Given the description of an element on the screen output the (x, y) to click on. 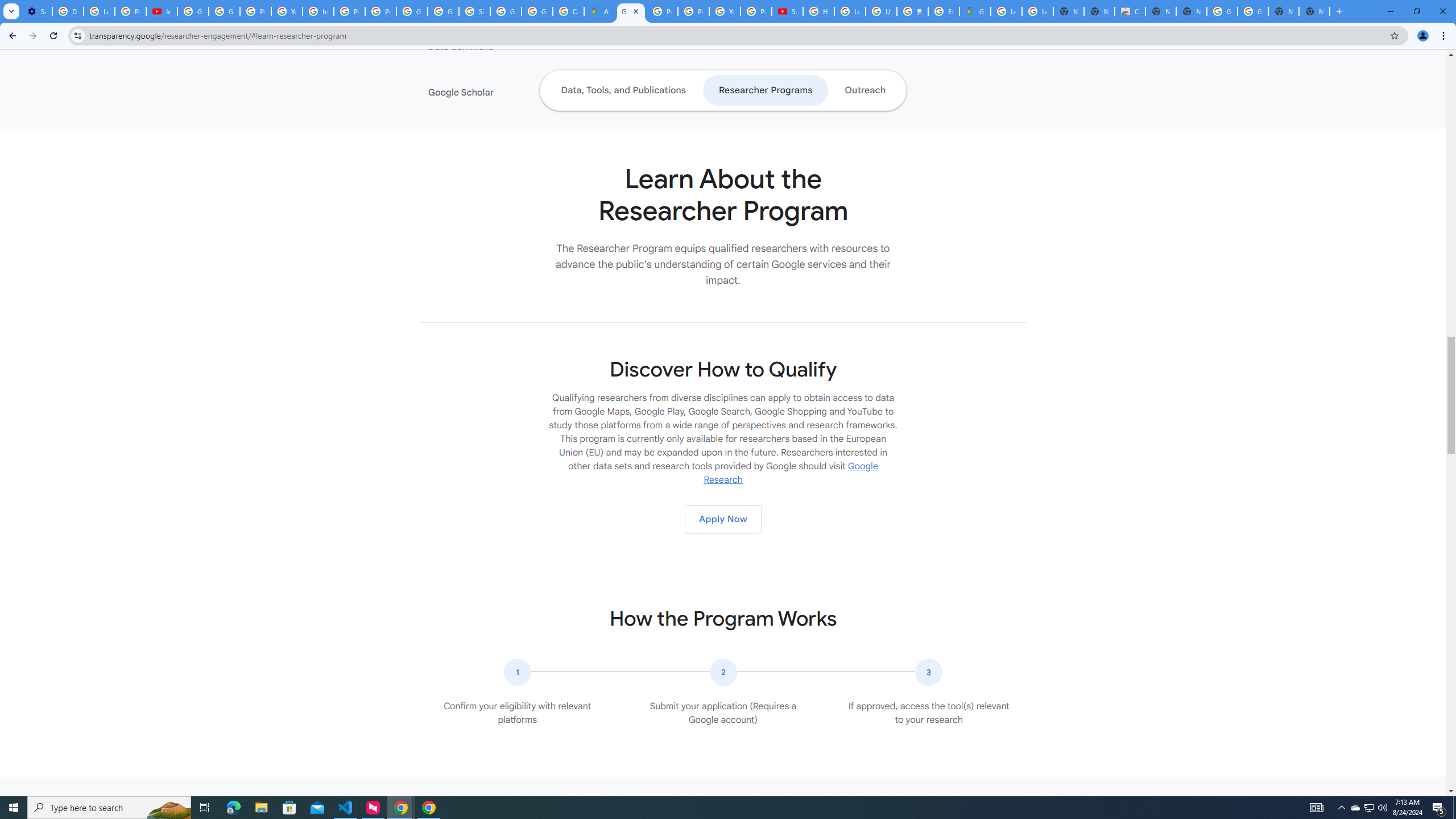
Sign in - Google Accounts (474, 11)
Subscriptions - YouTube (787, 11)
Privacy Help Center - Policies Help (349, 11)
Google Researcher Engagement - Transparency Center (631, 11)
Privacy Help Center - Policies Help (693, 11)
New Tab (1314, 11)
Explore new street-level details - Google Maps Help (943, 11)
Chrome Web Store (1129, 11)
